Given the description of an element on the screen output the (x, y) to click on. 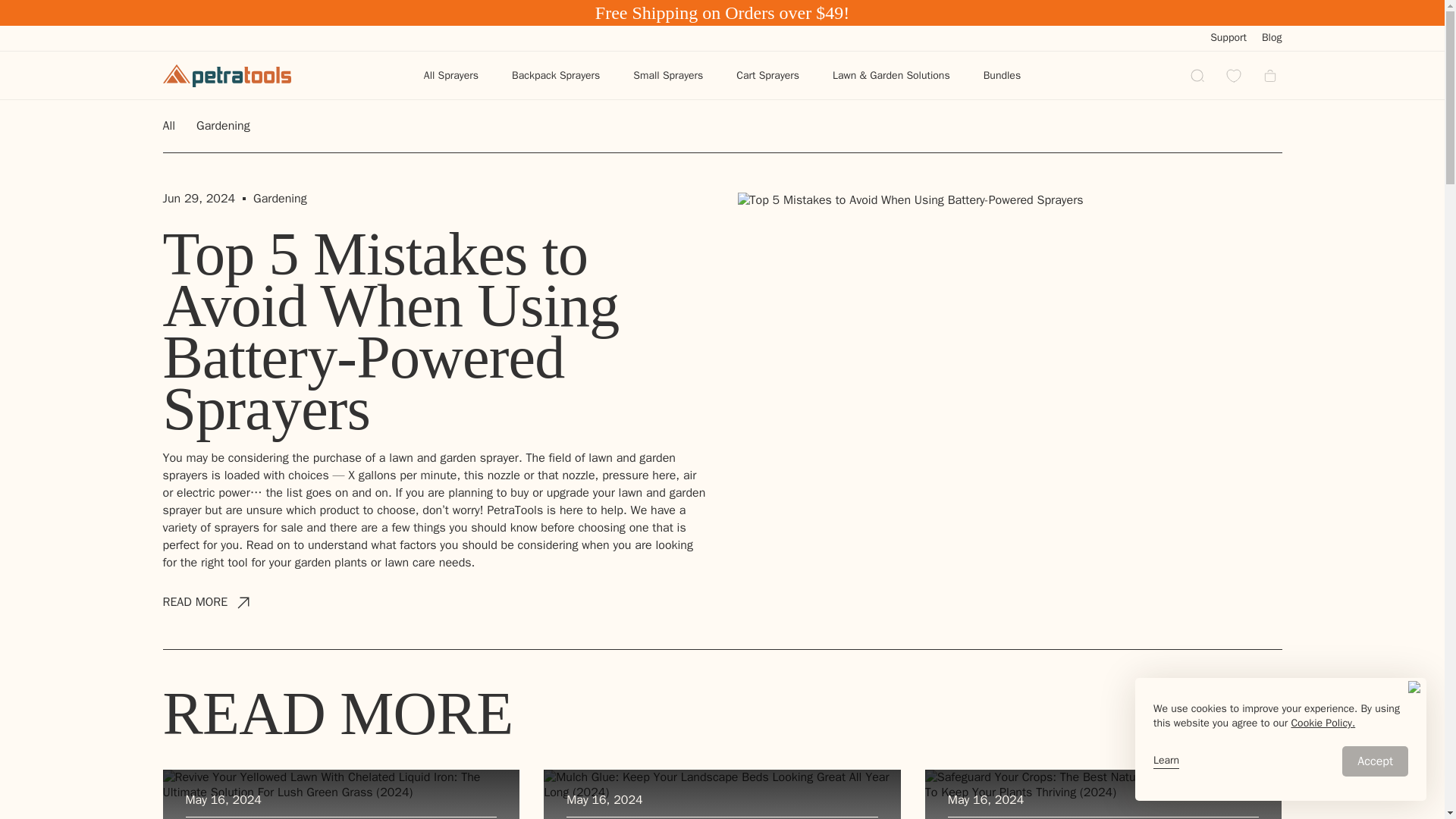
All Sprayers (451, 74)
Blog (1272, 38)
READ MORE (204, 601)
Gardening (223, 125)
Cart Sprayers (766, 74)
Shop All (223, 65)
Wishlist (1232, 75)
All (167, 125)
Small Sprayers (667, 74)
Cart (1269, 75)
Backpack Sprayers (555, 74)
Bundles (1001, 74)
Shop All (721, 65)
Support (1227, 38)
